Given the description of an element on the screen output the (x, y) to click on. 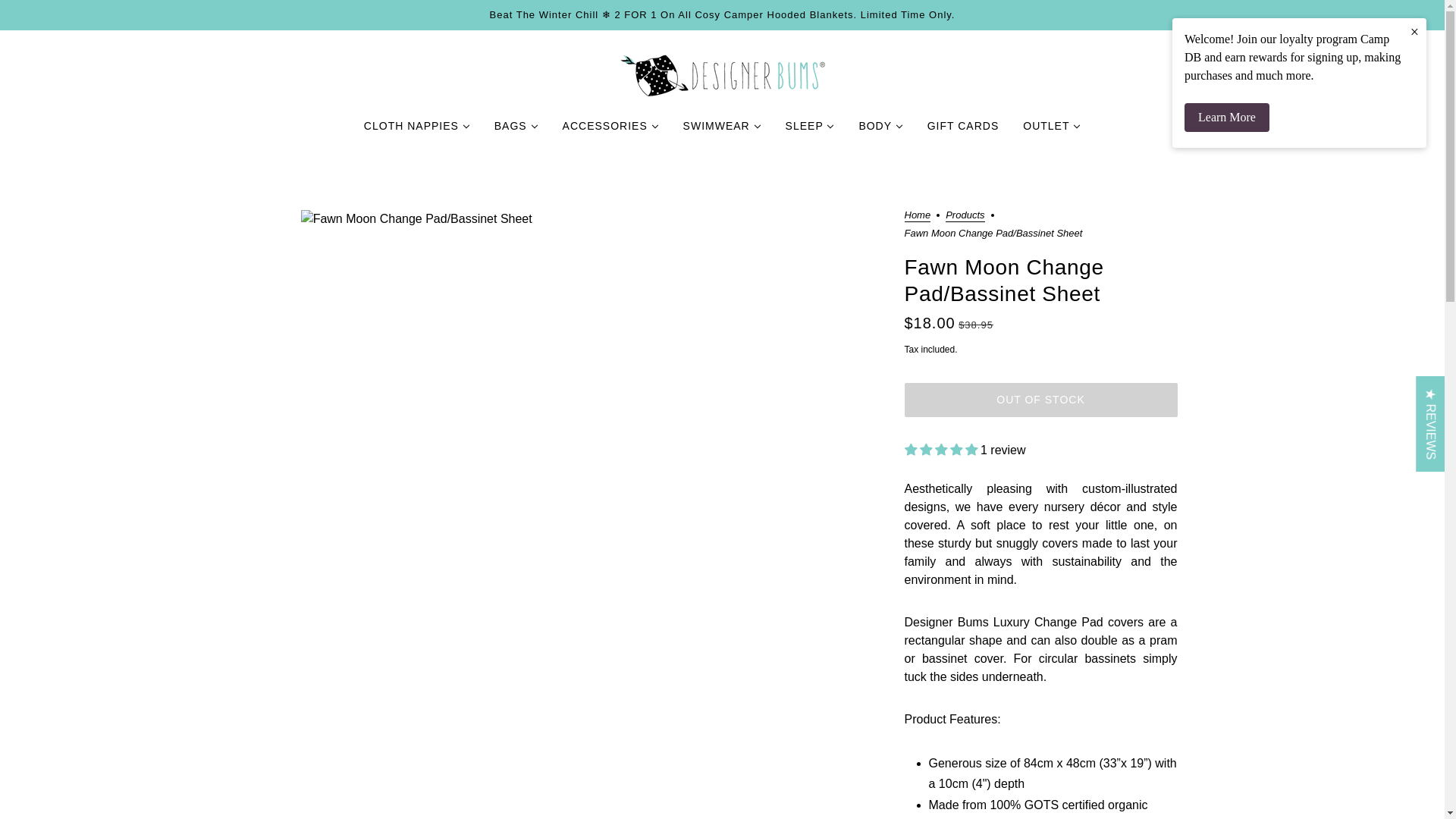
Designer Bums (722, 76)
ACCESSORIES  (610, 131)
SWIMWEAR  (722, 131)
BAGS  (515, 131)
CLOTH NAPPIES  (416, 131)
